Given the description of an element on the screen output the (x, y) to click on. 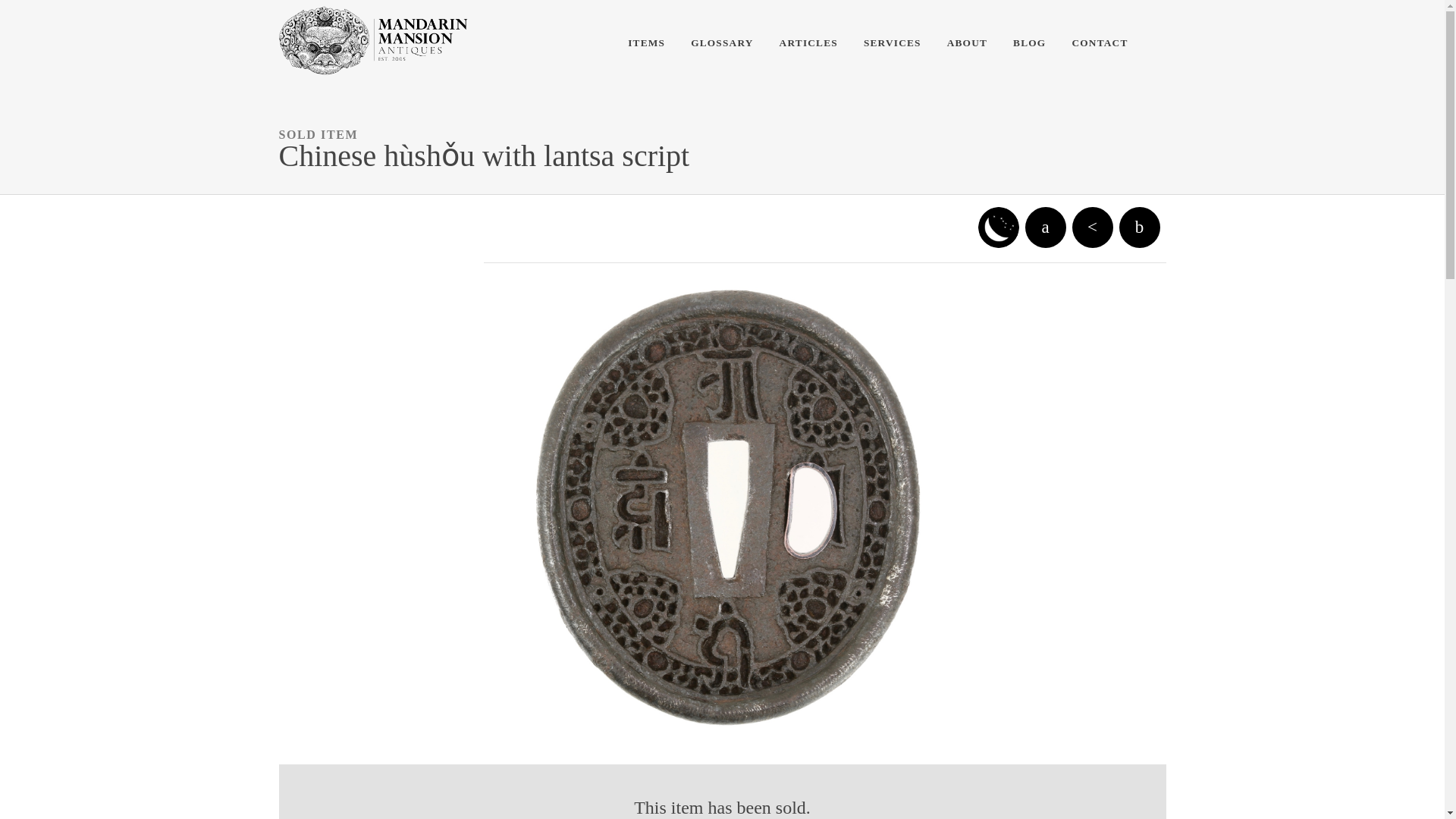
GLOSSARY (721, 43)
ARTICLES (808, 43)
ABOUT (967, 43)
BLOG (1029, 43)
SERVICES (892, 43)
CONTACT (1098, 43)
Search (29, 12)
ITEMS (646, 43)
